Given the description of an element on the screen output the (x, y) to click on. 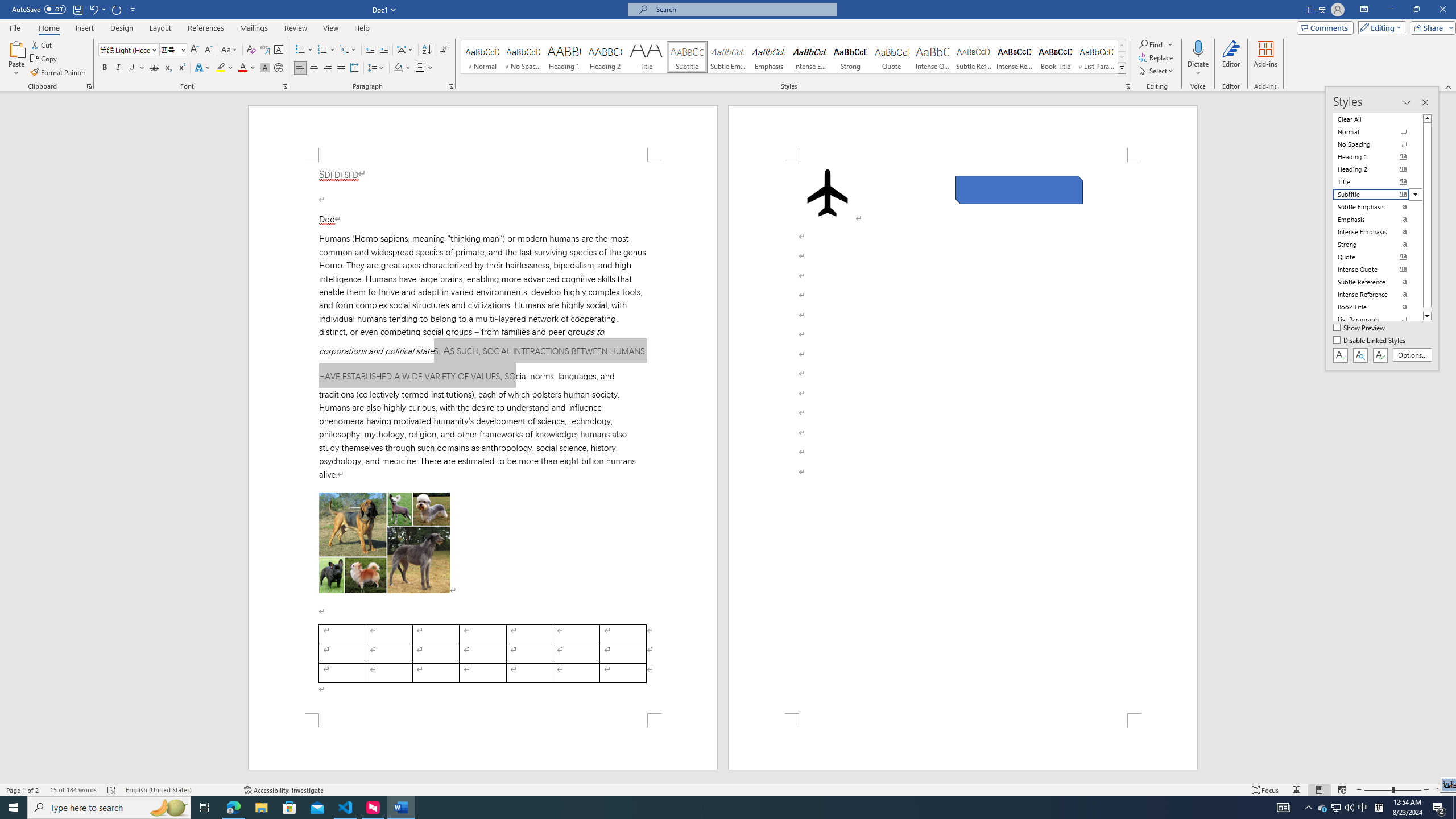
Row up (1121, 45)
Help (361, 28)
Underline (136, 67)
No Spacing (1377, 144)
Word Count 15 of 184 words (73, 790)
Subscript (167, 67)
Character Border (278, 49)
Class: MsoCommandBar (728, 45)
Minimize (1390, 9)
Normal (1377, 131)
Phonetic Guide... (264, 49)
Microsoft search (742, 9)
AutomationID: QuickStylesGallery (794, 56)
